Given the description of an element on the screen output the (x, y) to click on. 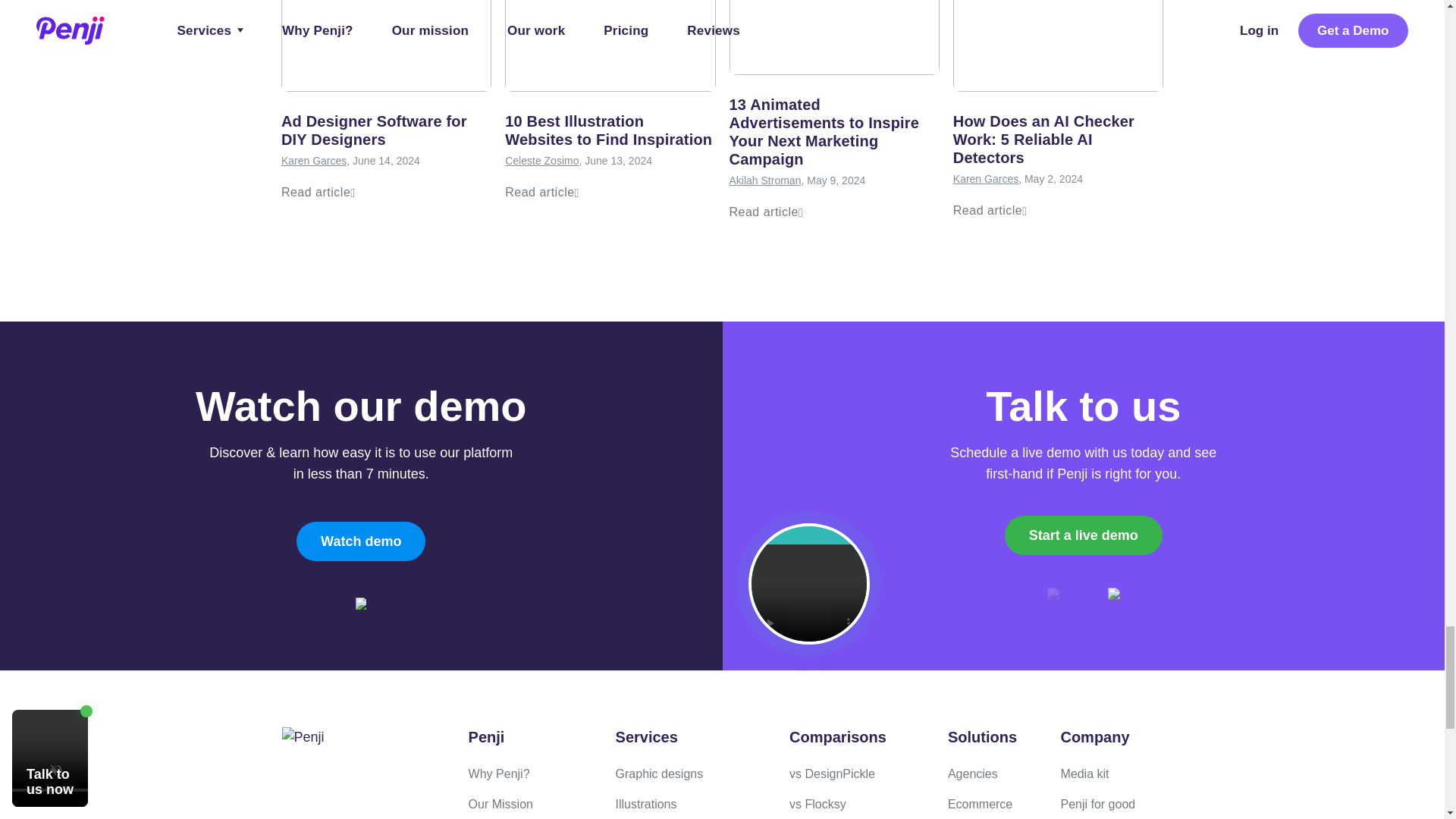
Akilah Stroman (765, 180)
Posts by Karen Garces (985, 178)
Celeste Zosimo (541, 160)
Posts by Karen Garces (313, 160)
Posts by Akilah Stroman (765, 180)
Ad Designer Software for DIY Designers (374, 130)
Read article (766, 212)
Read article (318, 192)
Posts by Celeste Zosimo (541, 160)
